Given the description of an element on the screen output the (x, y) to click on. 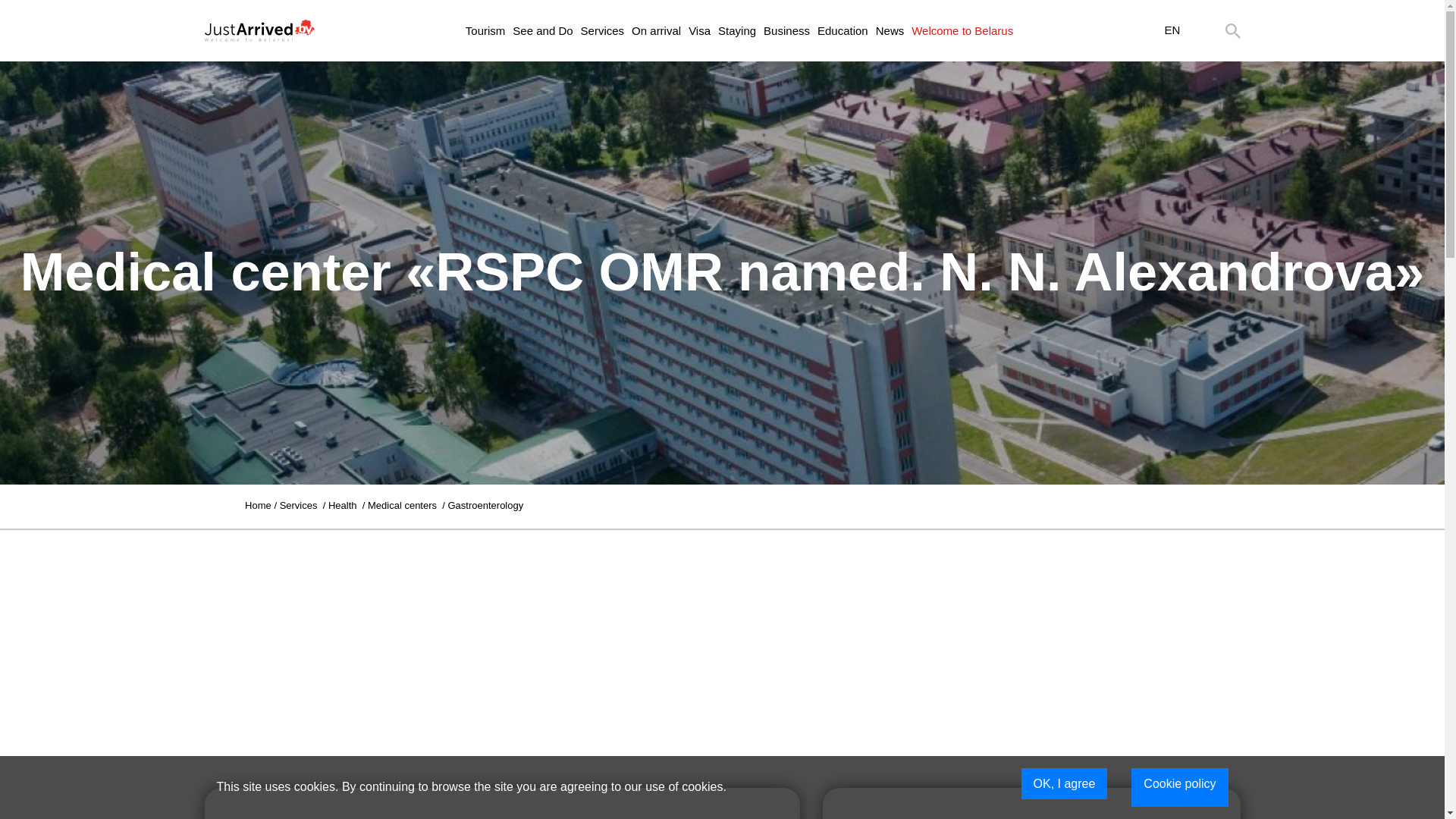
Cookie policy (1179, 787)
OK, I agree (1065, 784)
